Given the description of an element on the screen output the (x, y) to click on. 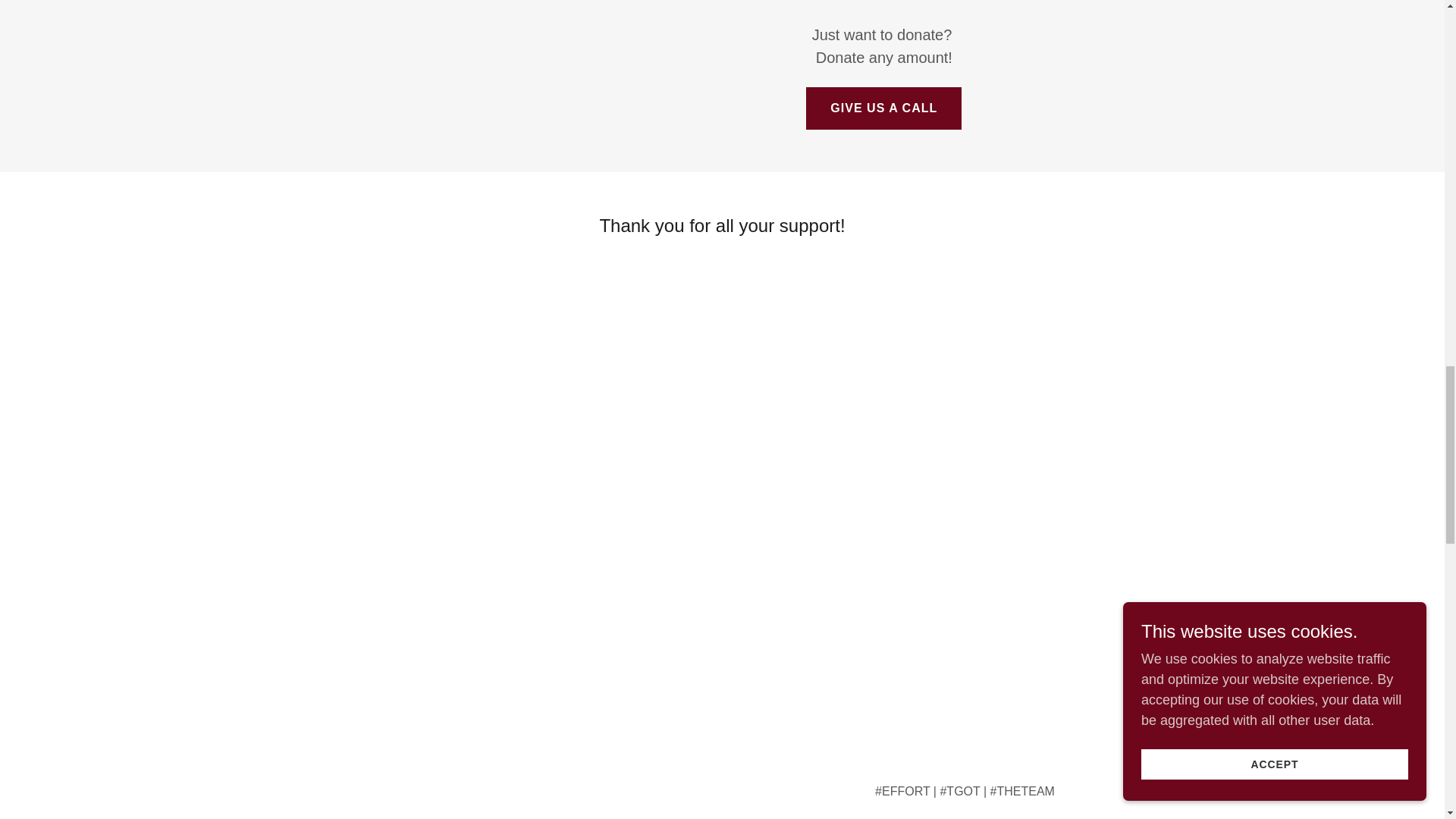
GIVE US A CALL (883, 107)
